Given the description of an element on the screen output the (x, y) to click on. 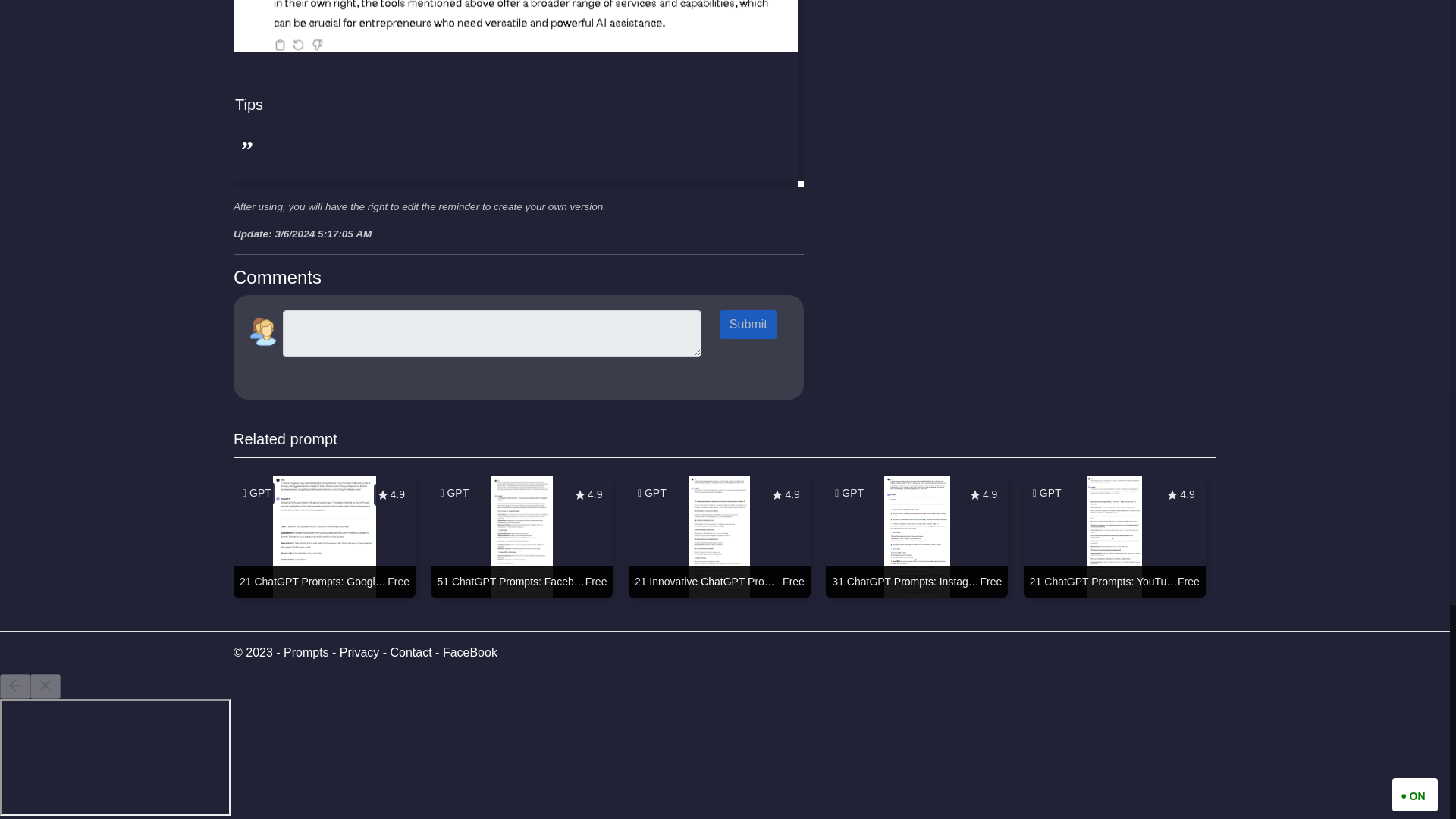
21 ChatGPT Prompts: TikTok Ads (1312, 536)
21 ChatGPT Prompts: Google Ads (323, 536)
21 ChatGPT Prompts: YouTube Ads  (1114, 536)
Submit (748, 324)
31 ChatGPT Prompts: Instagram Ads  (916, 536)
51 ChatGPT Prompts: Facebook Ads  (521, 536)
Related prompt (284, 438)
21 Innovative ChatGPT Prompts: Amazon Ads (719, 536)
